Given the description of an element on the screen output the (x, y) to click on. 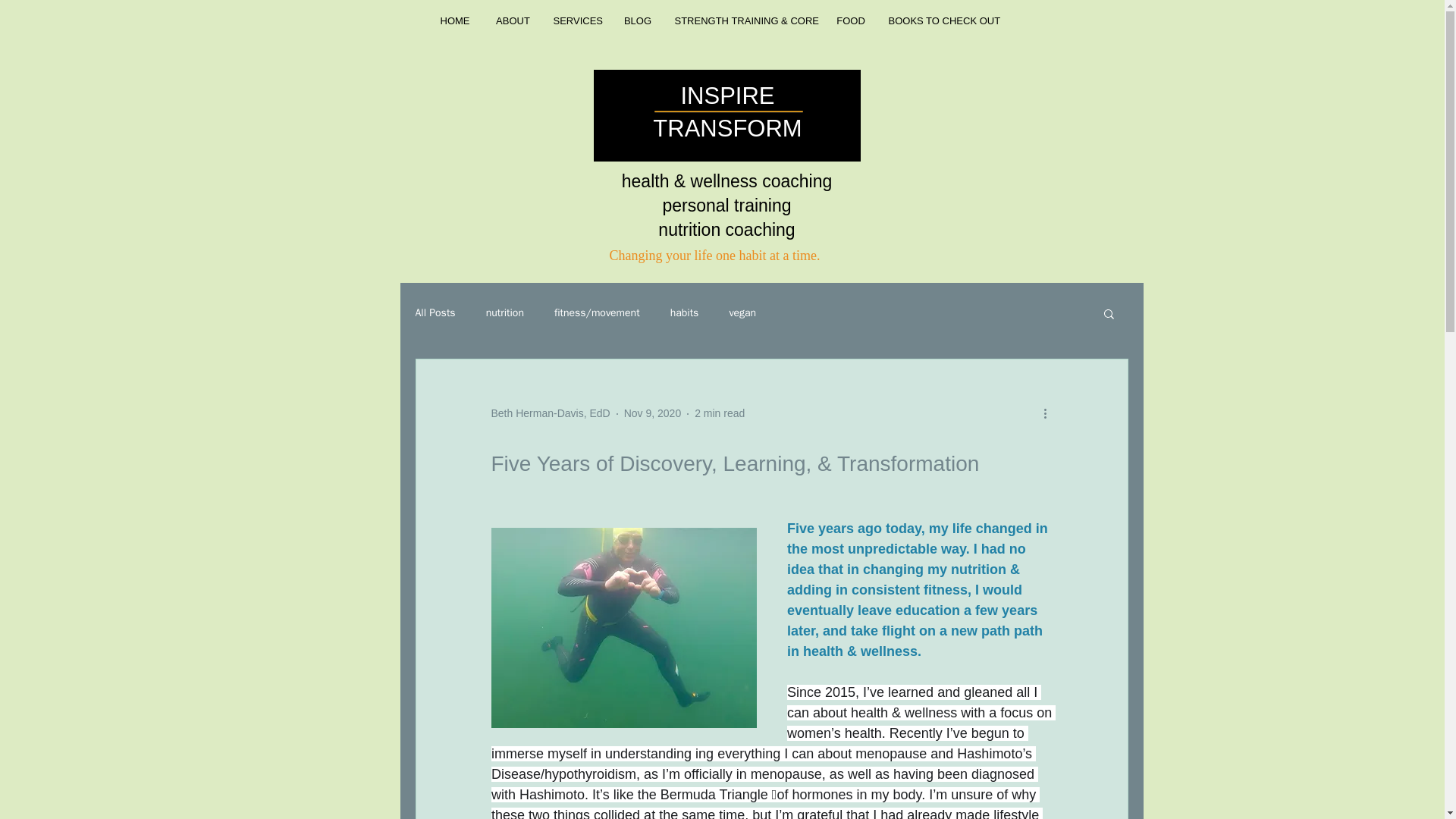
BLOG (637, 21)
BOOKS TO CHECK OUT (942, 21)
FOOD (850, 21)
nutrition (505, 313)
Beth Herman-Davis, EdD (551, 413)
vegan (742, 313)
All Posts (434, 313)
HOME (454, 21)
2 min read (719, 413)
SERVICES (577, 21)
